Given the description of an element on the screen output the (x, y) to click on. 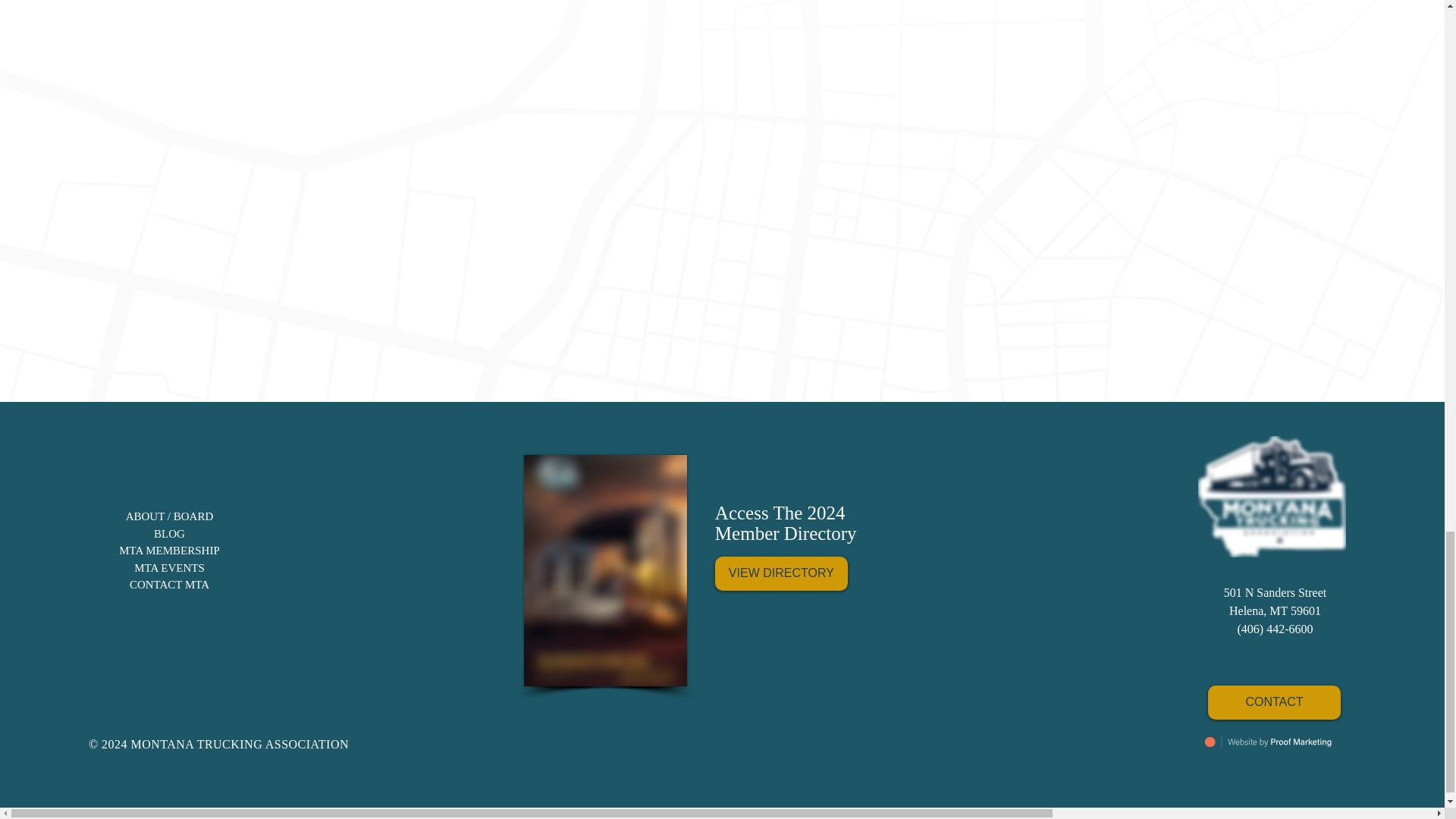
VIEW DIRECTORY (780, 573)
MTA MEMBERSHIP (169, 550)
CONTACT MTA (169, 584)
BLOG (169, 532)
CONTACT (1274, 702)
MTA EVENTS (169, 567)
